Given the description of an element on the screen output the (x, y) to click on. 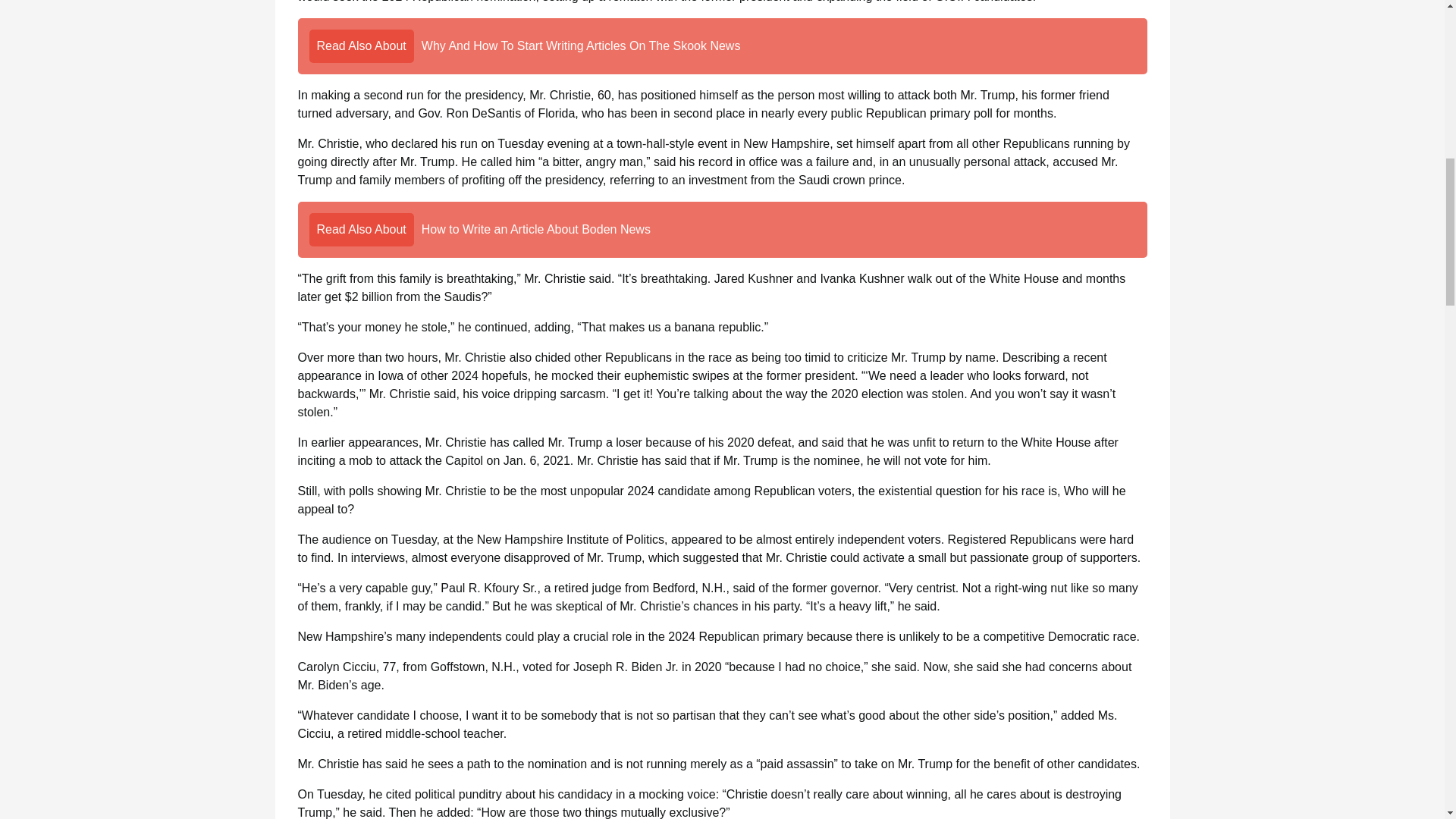
Read Also AboutHow to Write an Article About Boden News (722, 229)
